Given the description of an element on the screen output the (x, y) to click on. 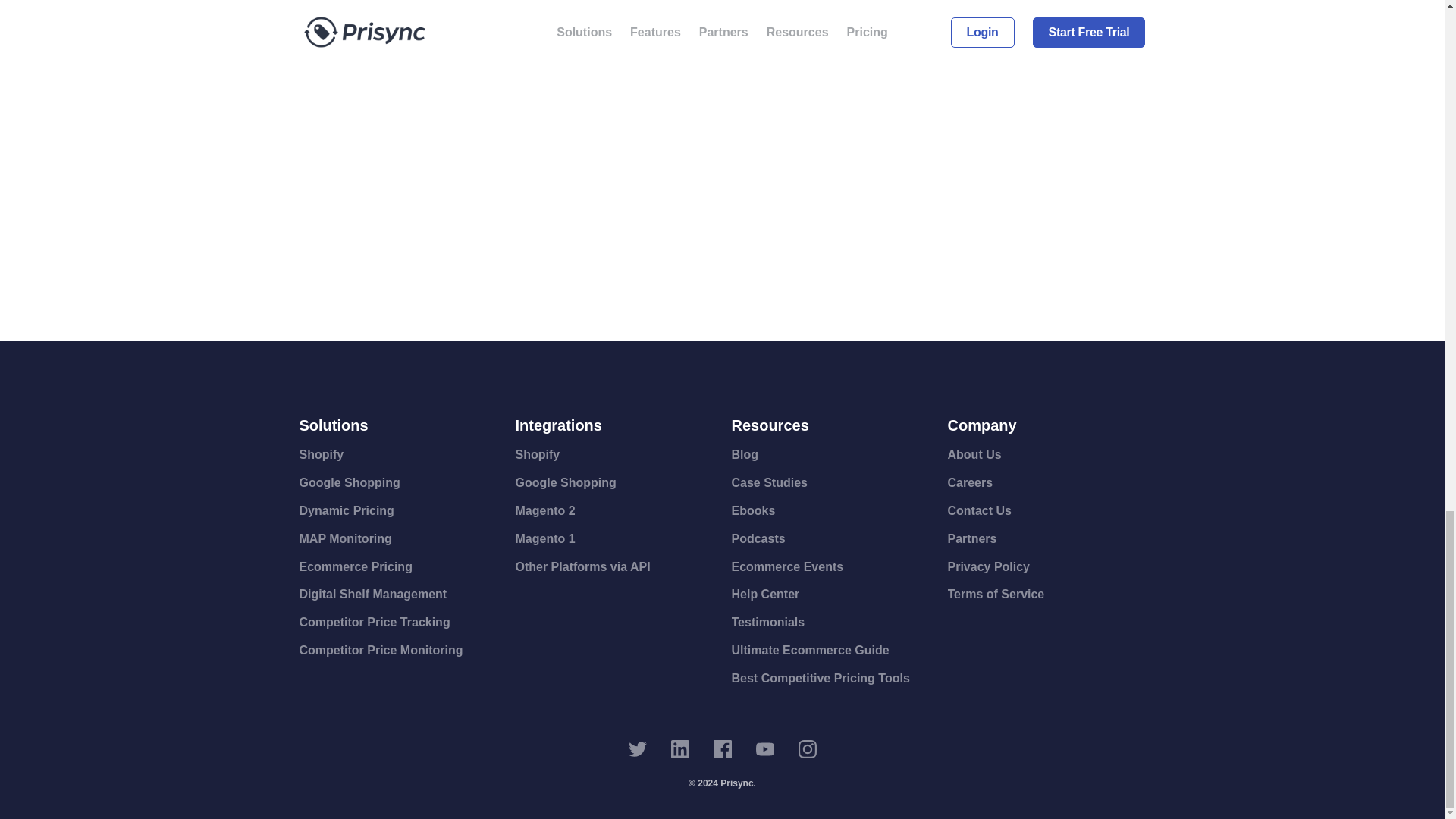
Facebook icon (721, 749)
YouTube icon (764, 749)
Twitter icon (636, 749)
Instagram icon (806, 749)
LinkedIn icon (678, 749)
